Given the description of an element on the screen output the (x, y) to click on. 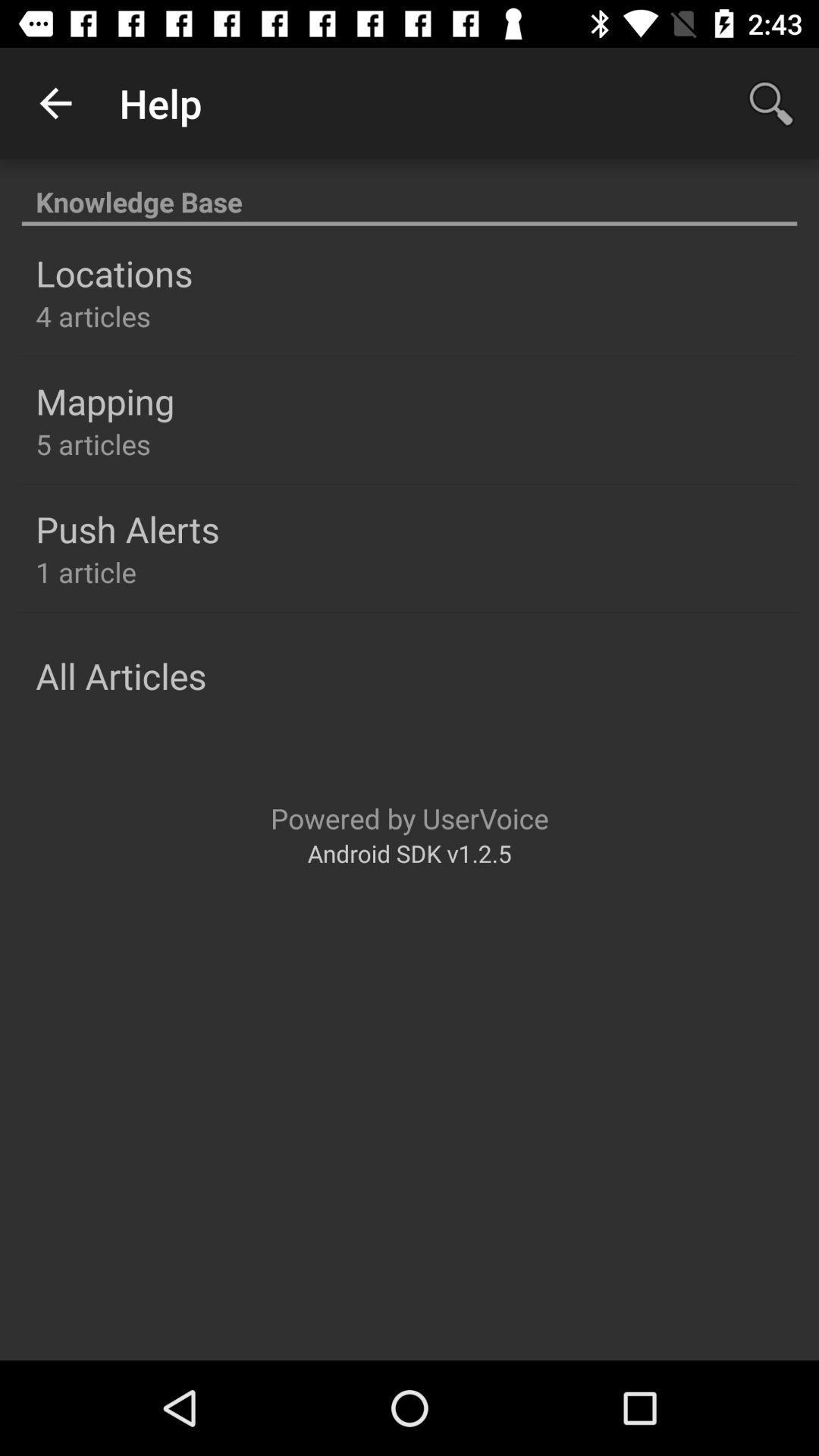
select the item below mapping item (92, 443)
